Given the description of an element on the screen output the (x, y) to click on. 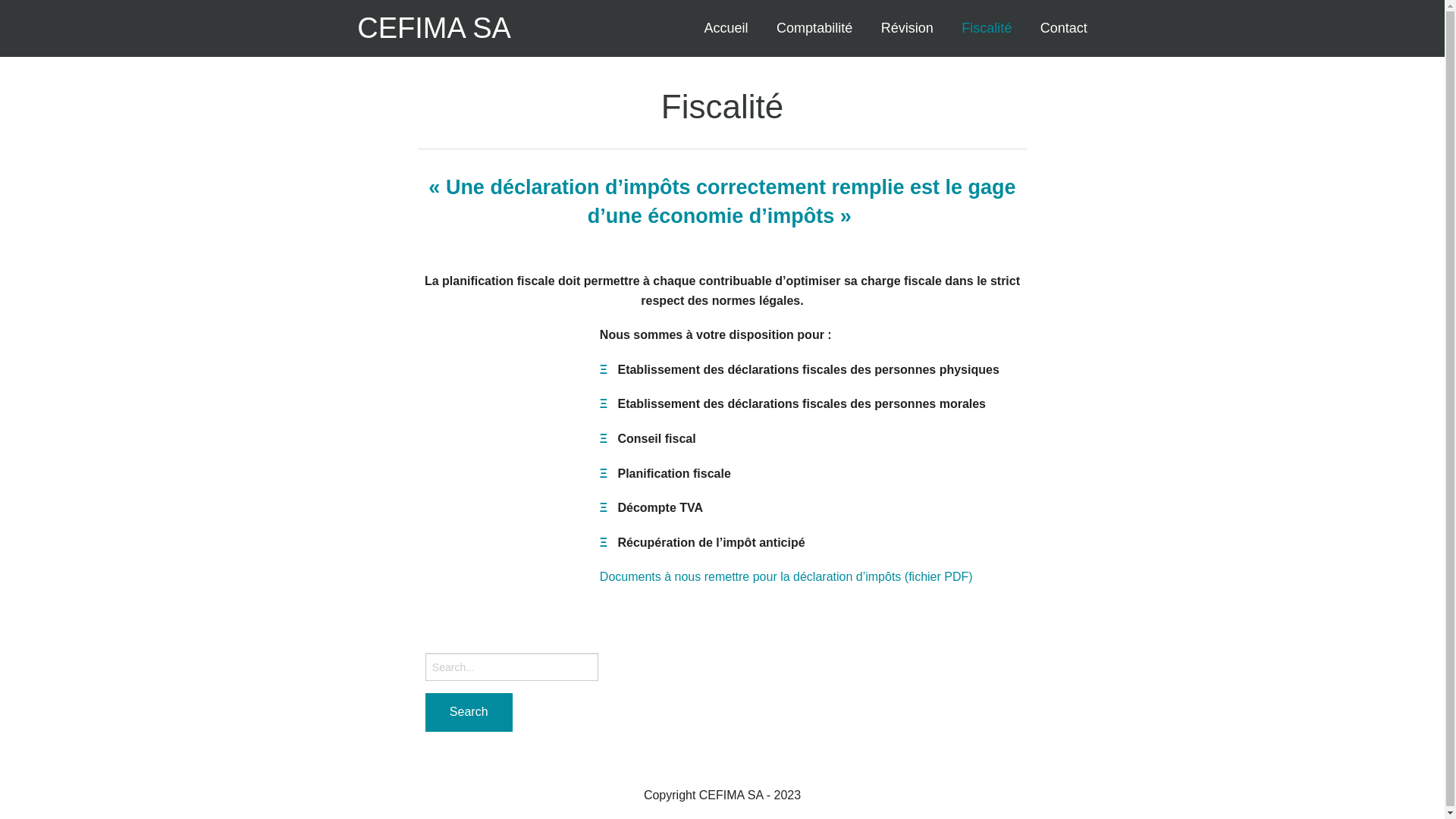
Accueil Element type: text (726, 28)
Contact Element type: text (1063, 28)
Search for: Element type: hover (511, 666)
Search Element type: text (468, 712)
CEFIMA SA Element type: text (433, 28)
